Given the description of an element on the screen output the (x, y) to click on. 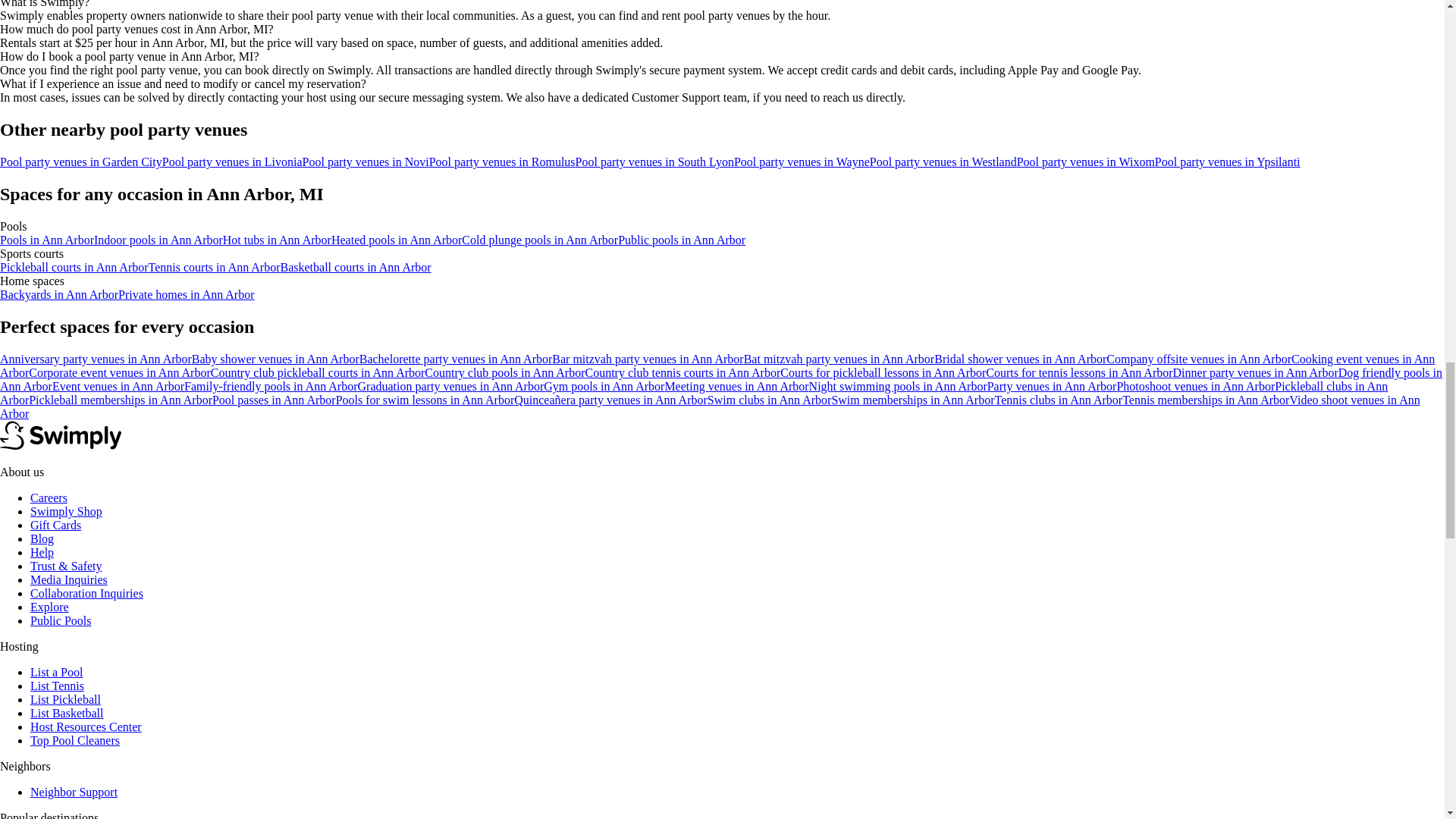
Pool party venues in Wixom (1085, 161)
Help (41, 552)
Pool party venues in Westland (942, 161)
Media Inquiries (68, 579)
Pool party venues in Wayne (801, 161)
Collaboration Inquiries (86, 593)
Host Resources Center (85, 726)
Pool party venues in Romulus (502, 161)
Swimply Shop (65, 511)
List a Pool (56, 671)
Gift Cards (55, 524)
List Basketball (66, 712)
Neighbor Support (73, 791)
Blog (41, 538)
List Pickleball (65, 698)
